Given the description of an element on the screen output the (x, y) to click on. 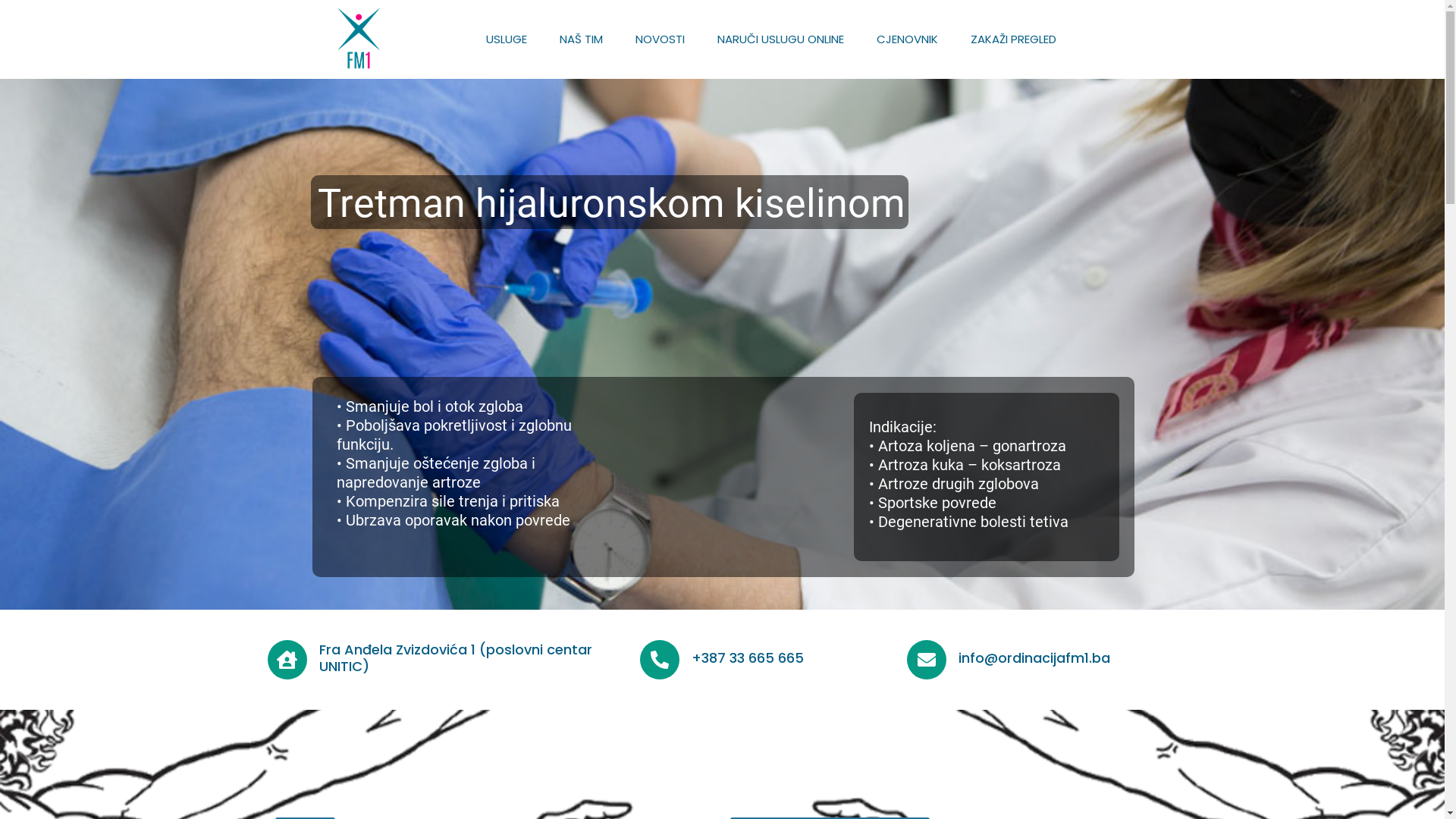
USLUGE Element type: text (506, 38)
CJENOVNIK Element type: text (907, 38)
NOVOSTI Element type: text (659, 38)
